Given the description of an element on the screen output the (x, y) to click on. 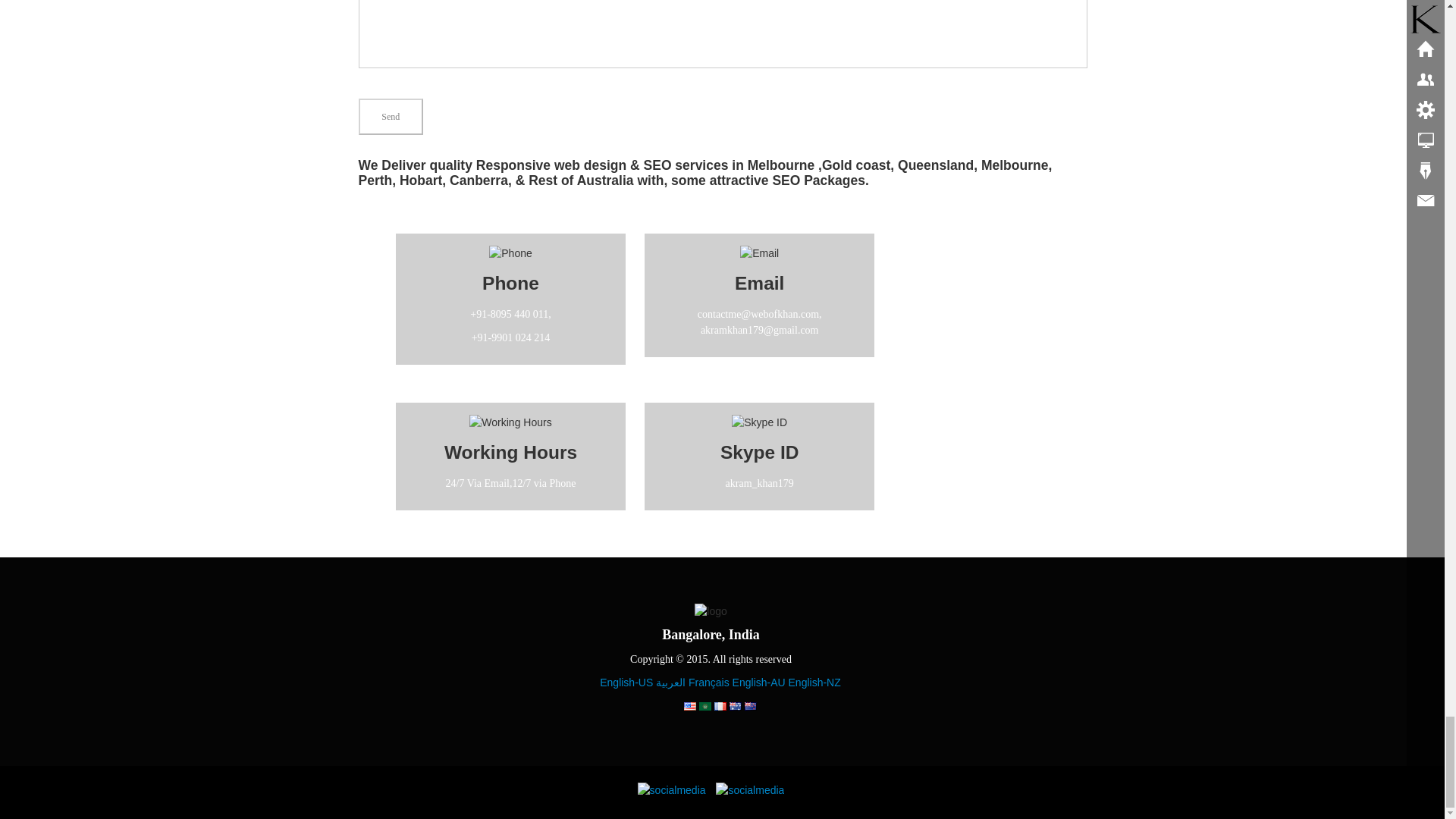
Send (390, 116)
